Given the description of an element on the screen output the (x, y) to click on. 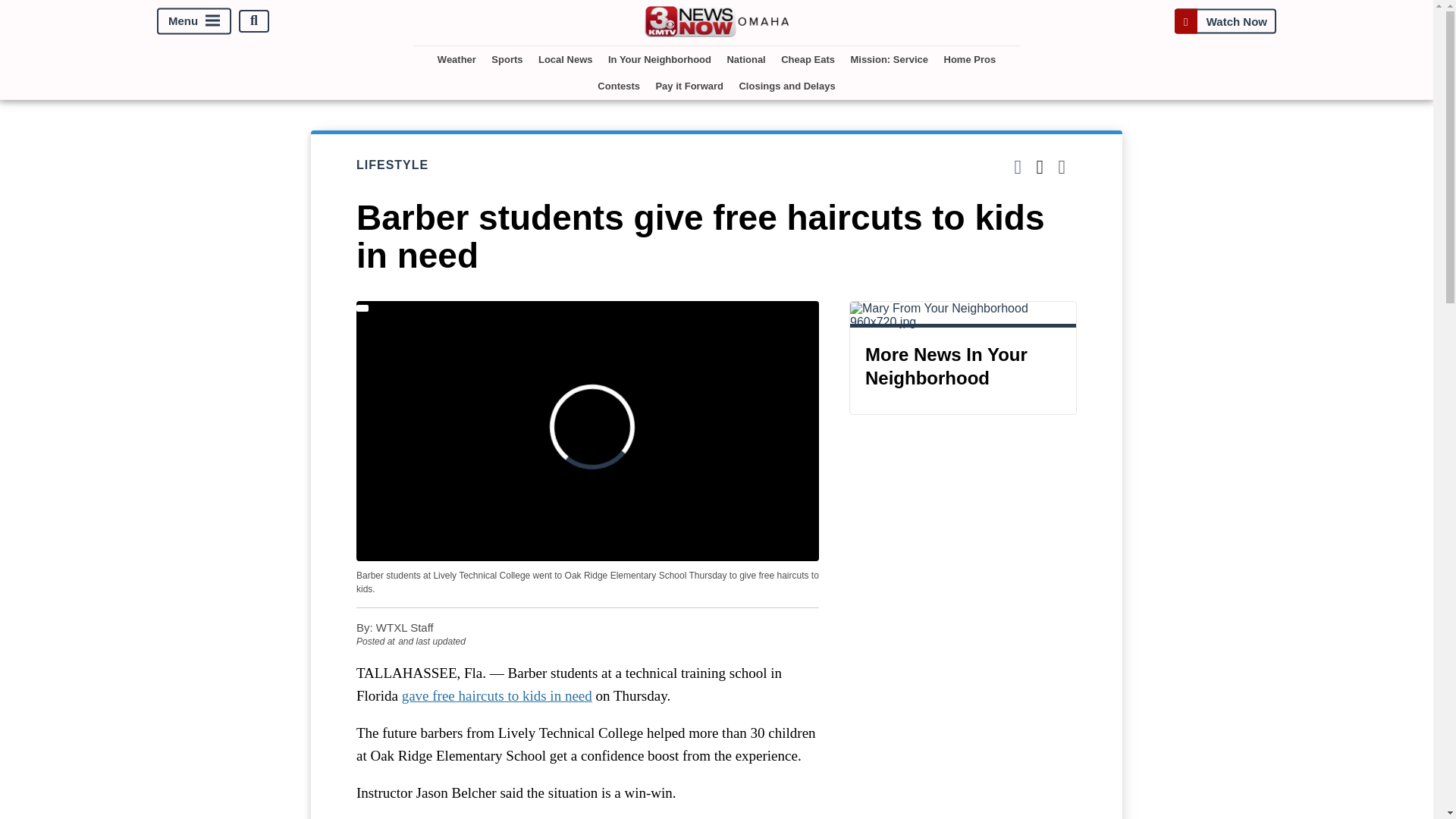
Menu (194, 20)
Watch Now (1224, 20)
